Given the description of an element on the screen output the (x, y) to click on. 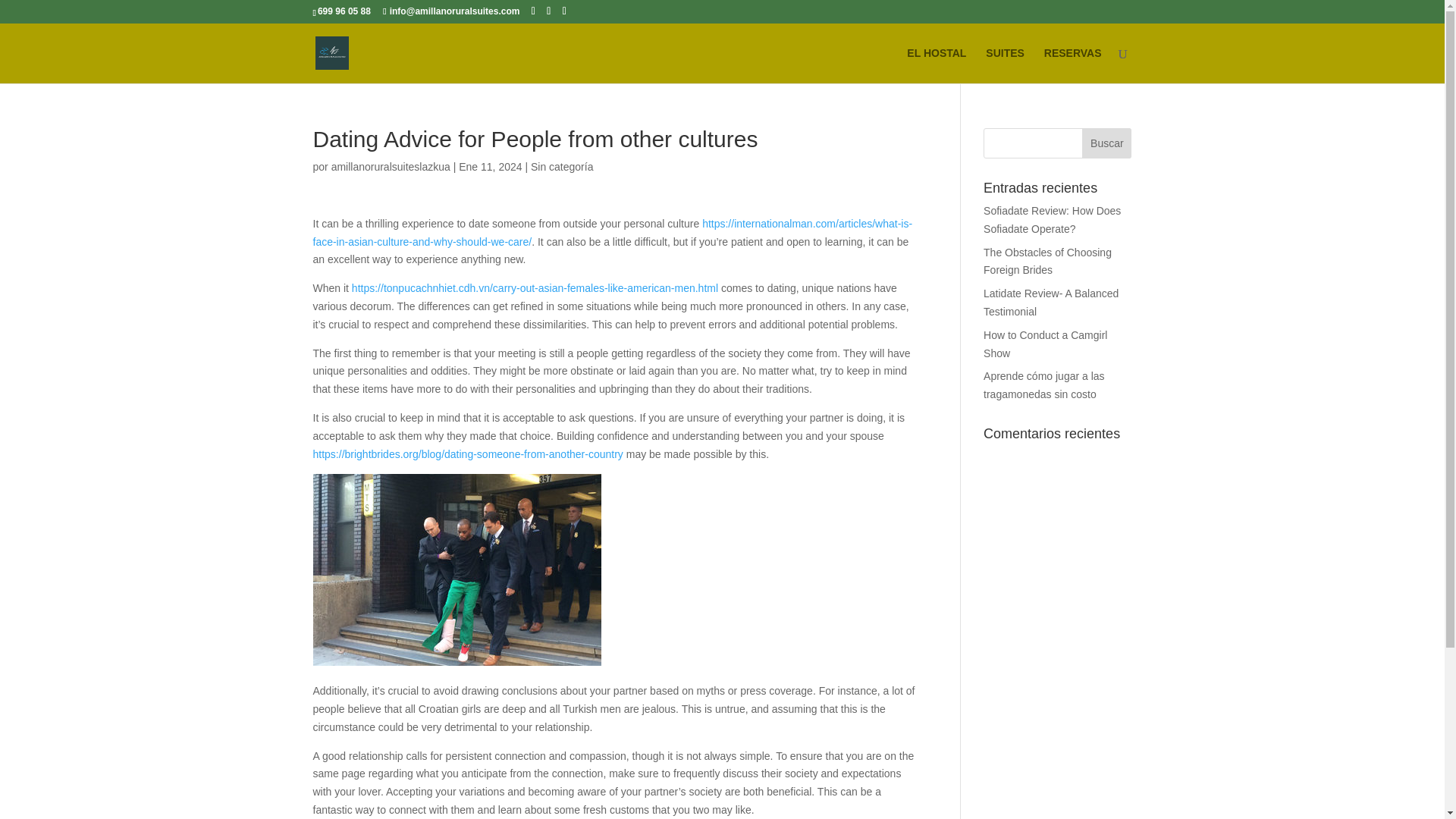
amillanoruralsuiteslazkua (390, 166)
The Obstacles of Choosing Foreign Brides (1048, 261)
Sofiadate Review: How Does Sofiadate Operate? (1052, 219)
How to Conduct a Camgirl Show (1045, 344)
Mensajes de amillanoruralsuiteslazkua (390, 166)
EL HOSTAL (936, 65)
RESERVAS (1072, 65)
Buscar (1106, 142)
SUITES (1005, 65)
Buscar (1106, 142)
